Given the description of an element on the screen output the (x, y) to click on. 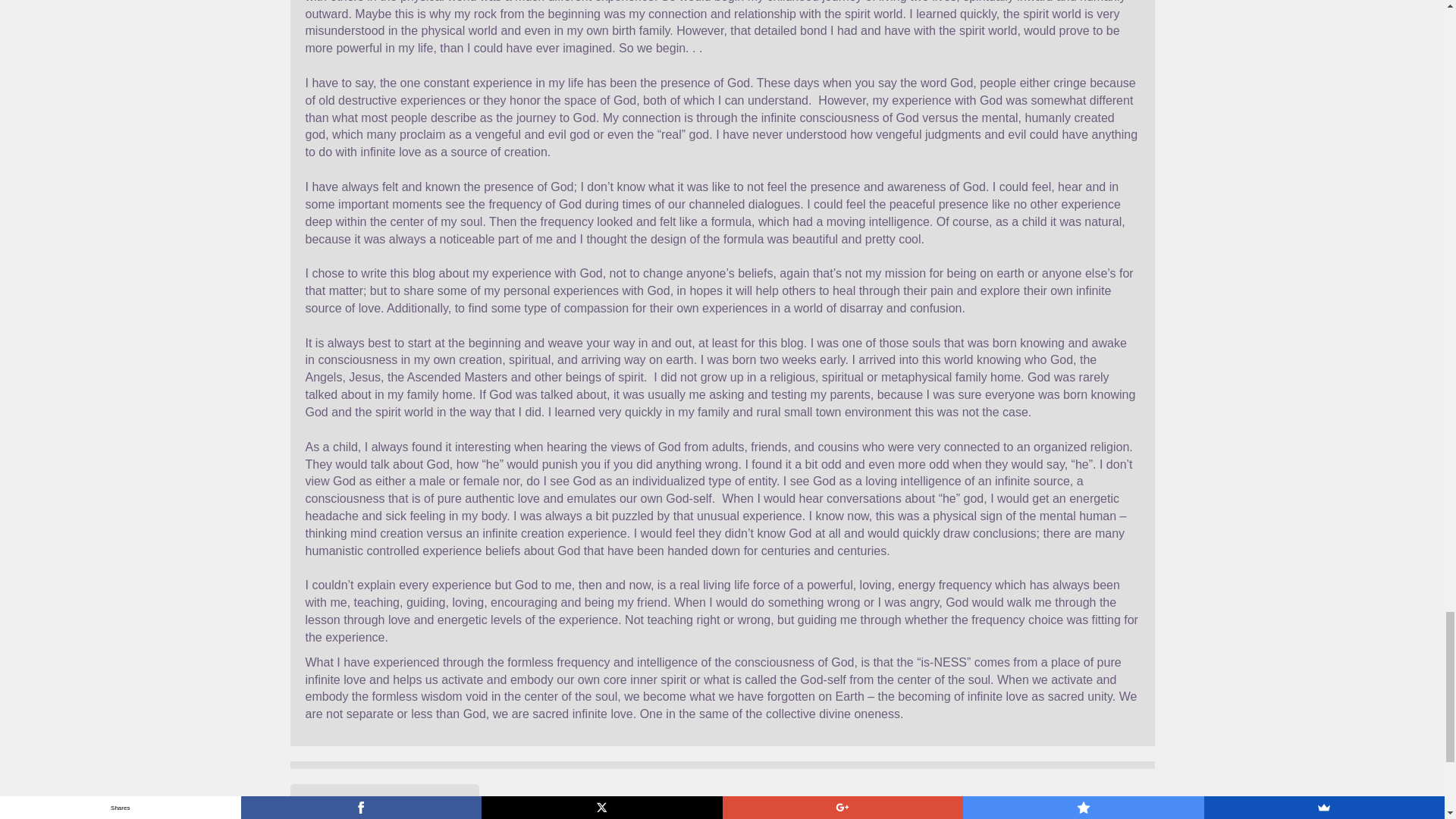
Next page (439, 802)
Previous page (339, 802)
